Given the description of an element on the screen output the (x, y) to click on. 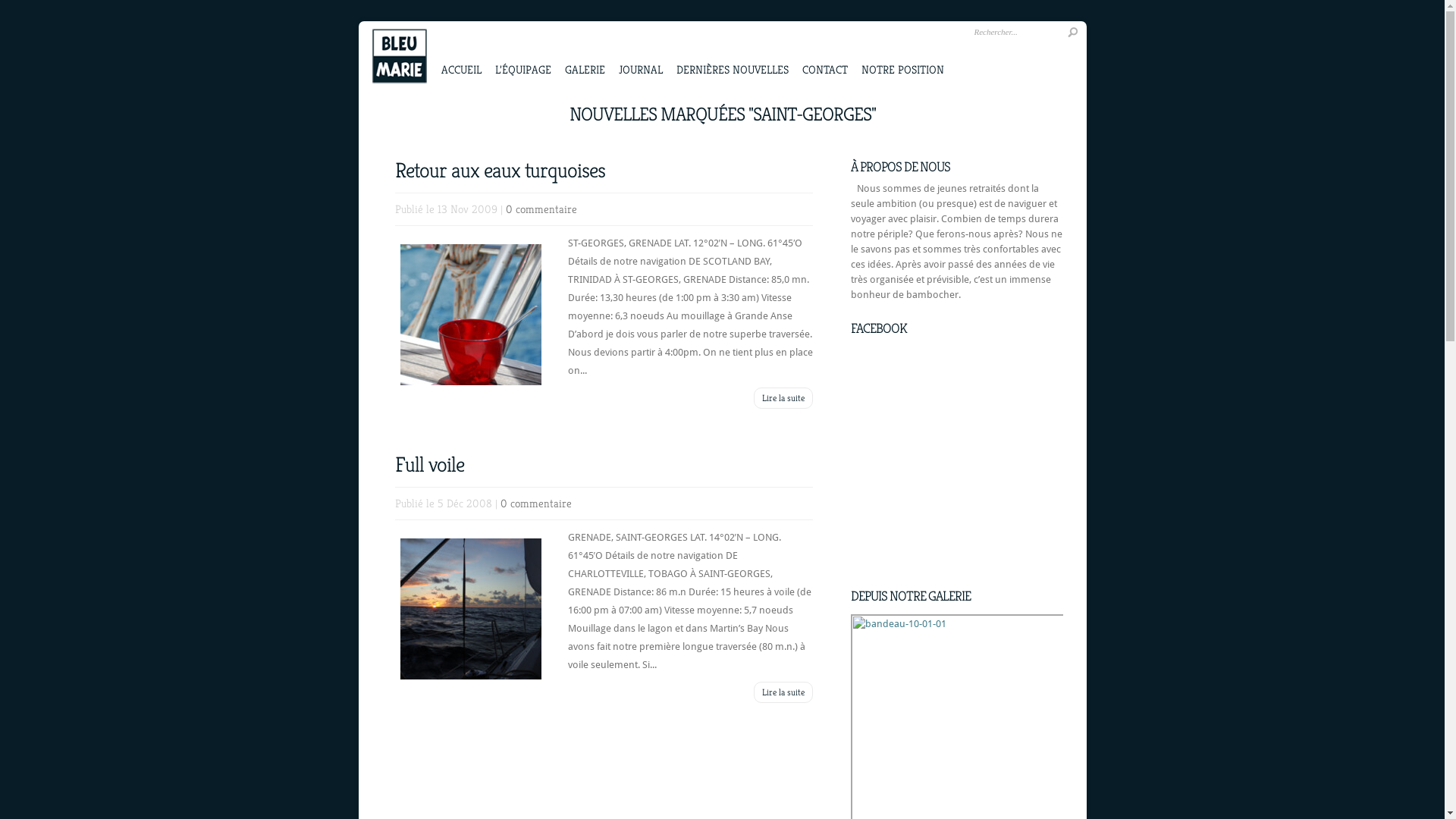
JOURNAL Element type: text (640, 52)
CONTACT Element type: text (824, 52)
ACCUEIL Element type: text (461, 52)
Retour aux eaux turquoises Element type: text (499, 169)
0 commentaire Element type: text (540, 208)
0 commentaire Element type: text (535, 502)
Lire la suite Element type: text (782, 397)
Lire la suite Element type: text (782, 691)
NOTRE POSITION Element type: text (902, 52)
GALERIE Element type: text (584, 52)
Full voile Element type: text (428, 464)
